Given the description of an element on the screen output the (x, y) to click on. 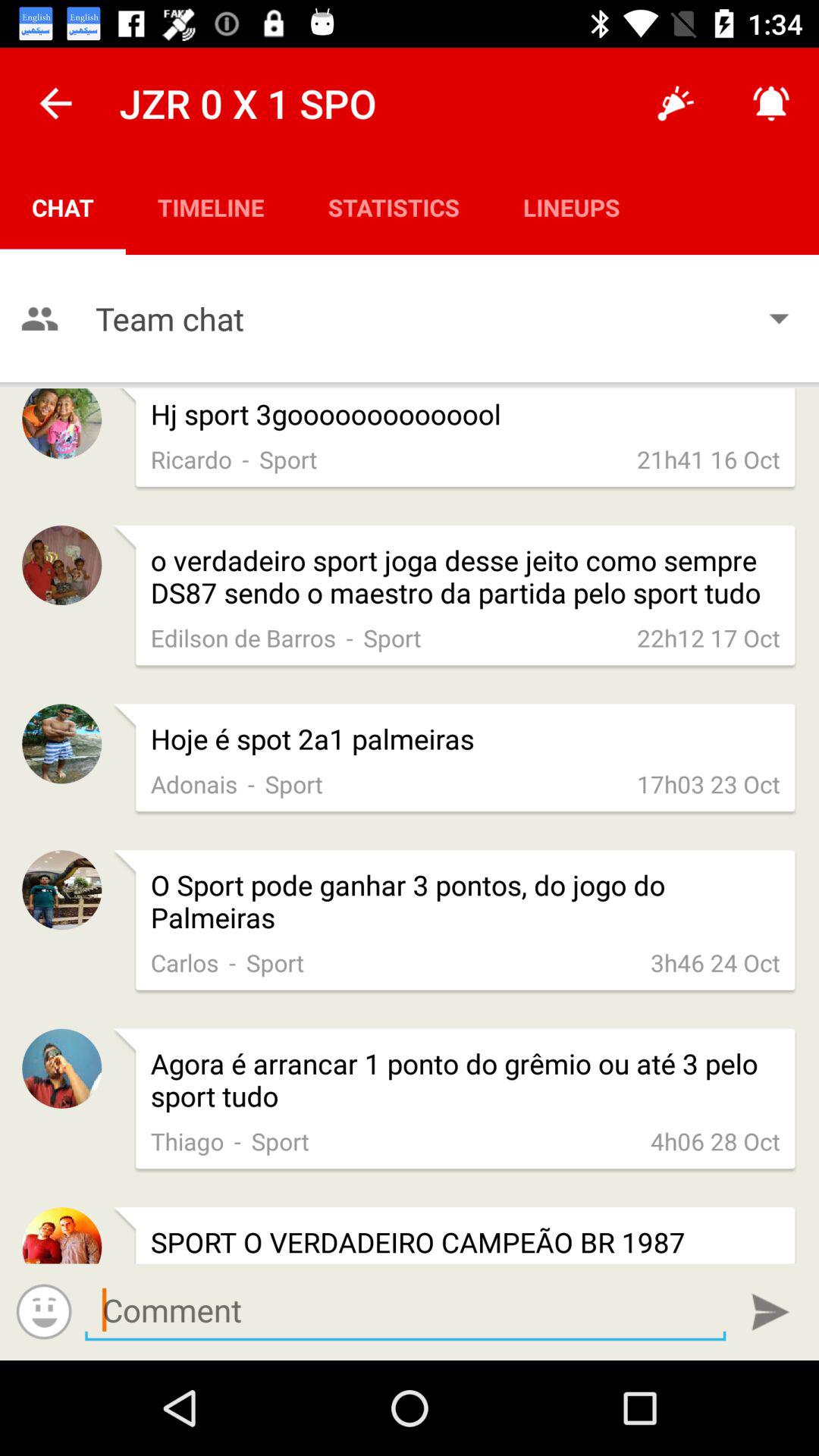
enter comment (770, 1312)
